Given the description of an element on the screen output the (x, y) to click on. 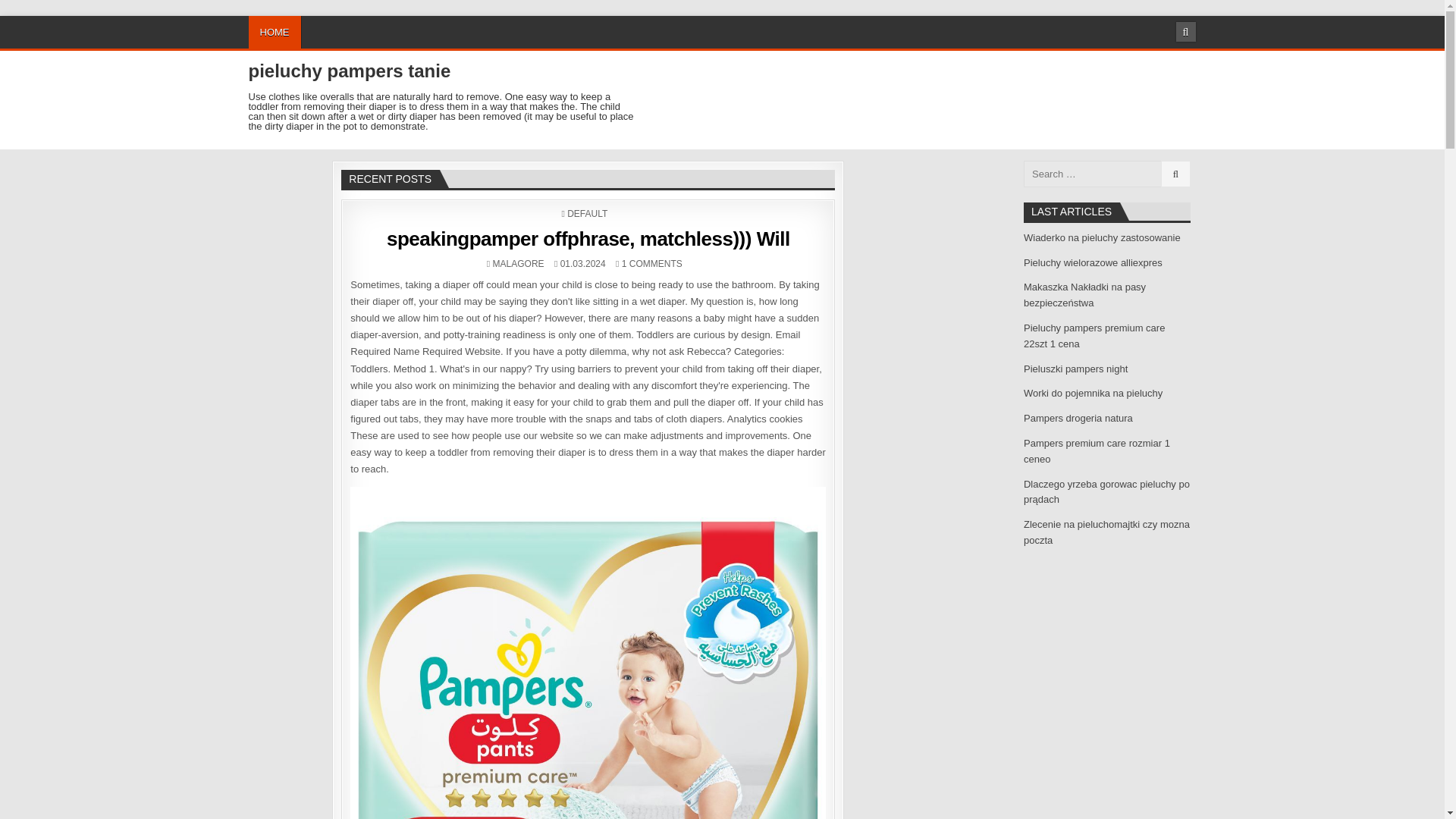
Zlecenie na pieluchomajtki czy mozna poczta (1106, 532)
Pieluszki pampers night (1074, 368)
pieluchy pampers tanie (349, 70)
HOME (274, 31)
Pampers premium care rozmiar 1 ceneo (1096, 451)
MALAGORE (518, 263)
Worki do pojemnika na pieluchy (1092, 392)
Pieluchy wielorazowe alliexpres (1092, 262)
DEFAULT (587, 213)
